Given the description of an element on the screen output the (x, y) to click on. 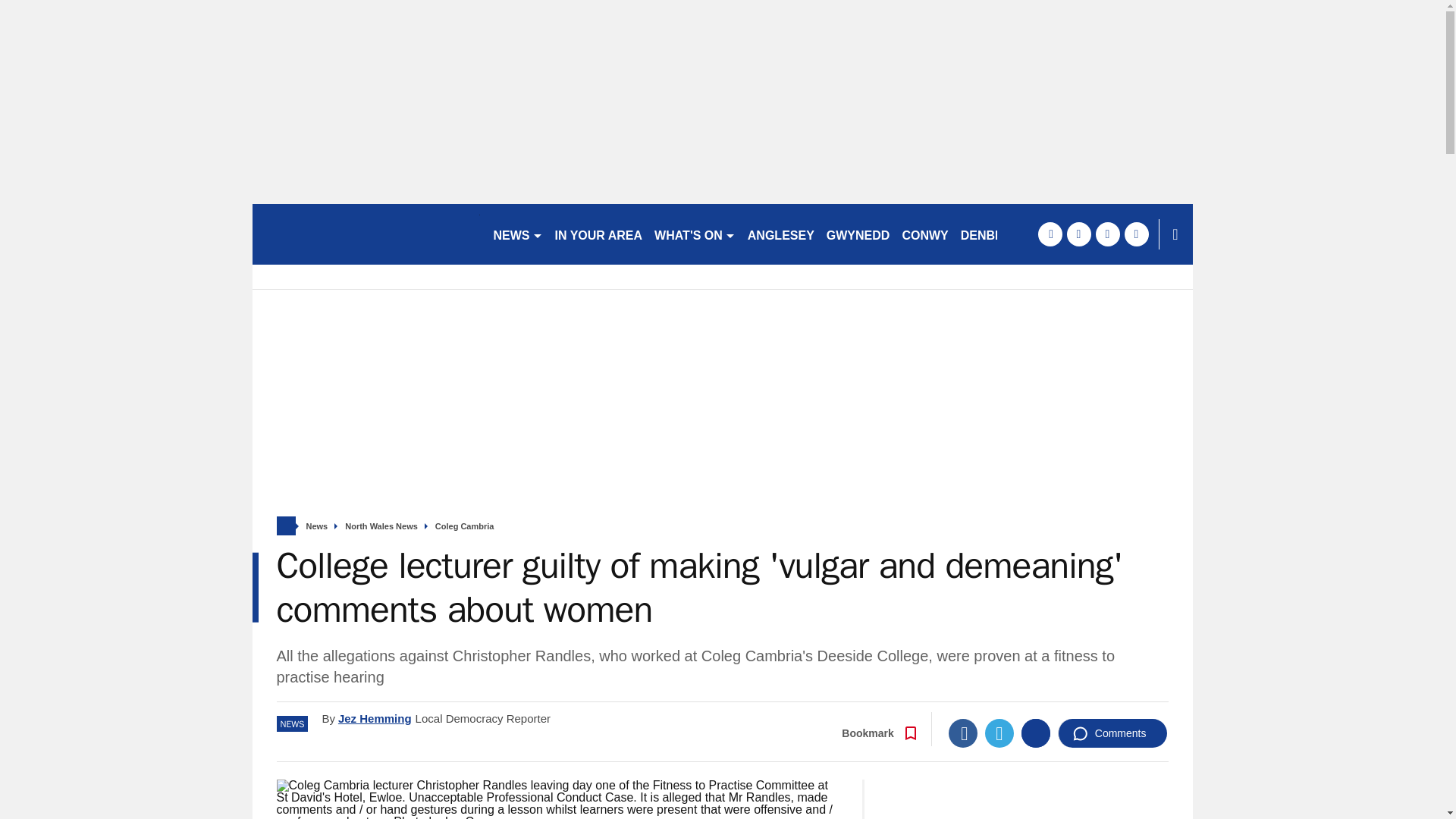
ANGLESEY (781, 233)
WHAT'S ON (694, 233)
DENBIGHSHIRE (1007, 233)
Comments (1112, 733)
northwales (365, 233)
NEWS (517, 233)
CONWY (924, 233)
twitter (1077, 233)
Facebook (962, 733)
Twitter (999, 733)
